Given the description of an element on the screen output the (x, y) to click on. 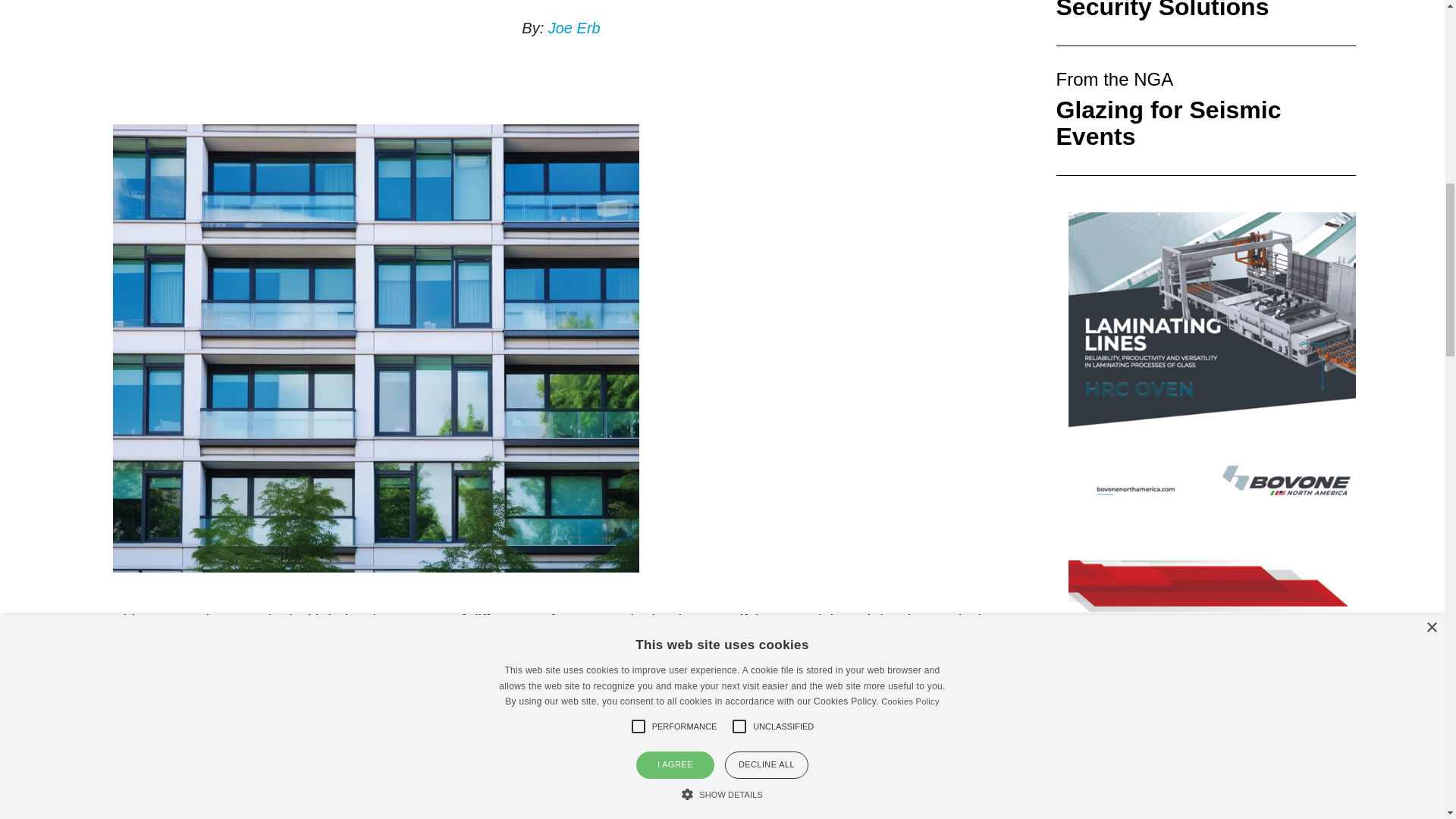
Glazing for Seismic Events (1168, 122)
From the NGA (1114, 78)
From the NGA (1114, 78)
Enhanced School Security Solutions (1161, 10)
Enhanced School Security Solutions (1161, 10)
Joe Erb (573, 27)
Glazing for Seismic Events (1168, 122)
